Given the description of an element on the screen output the (x, y) to click on. 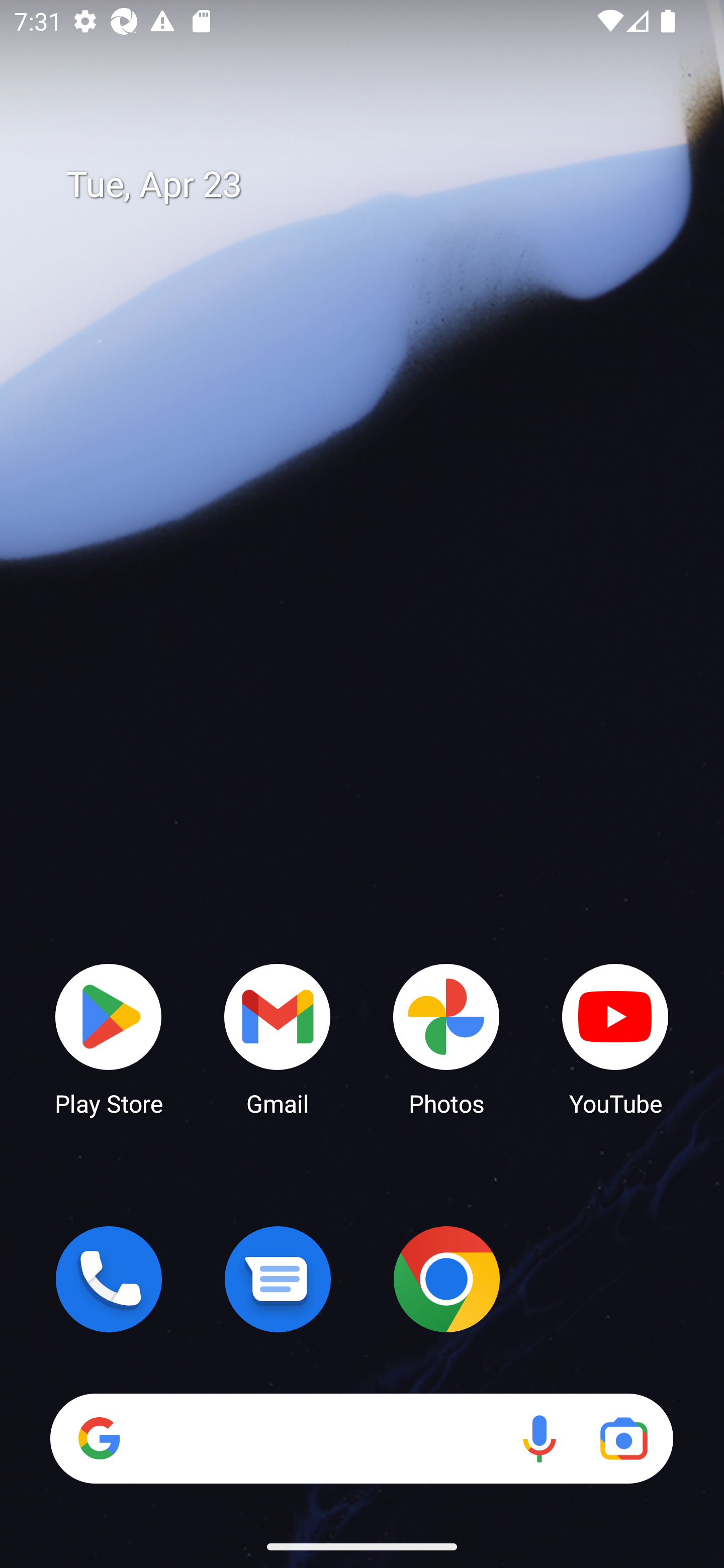
Tue, Apr 23 (375, 184)
Play Store (108, 1038)
Gmail (277, 1038)
Photos (445, 1038)
YouTube (615, 1038)
Phone (108, 1279)
Messages (277, 1279)
Chrome (446, 1279)
Search Voice search Google Lens (361, 1438)
Voice search (539, 1438)
Google Lens (623, 1438)
